Given the description of an element on the screen output the (x, y) to click on. 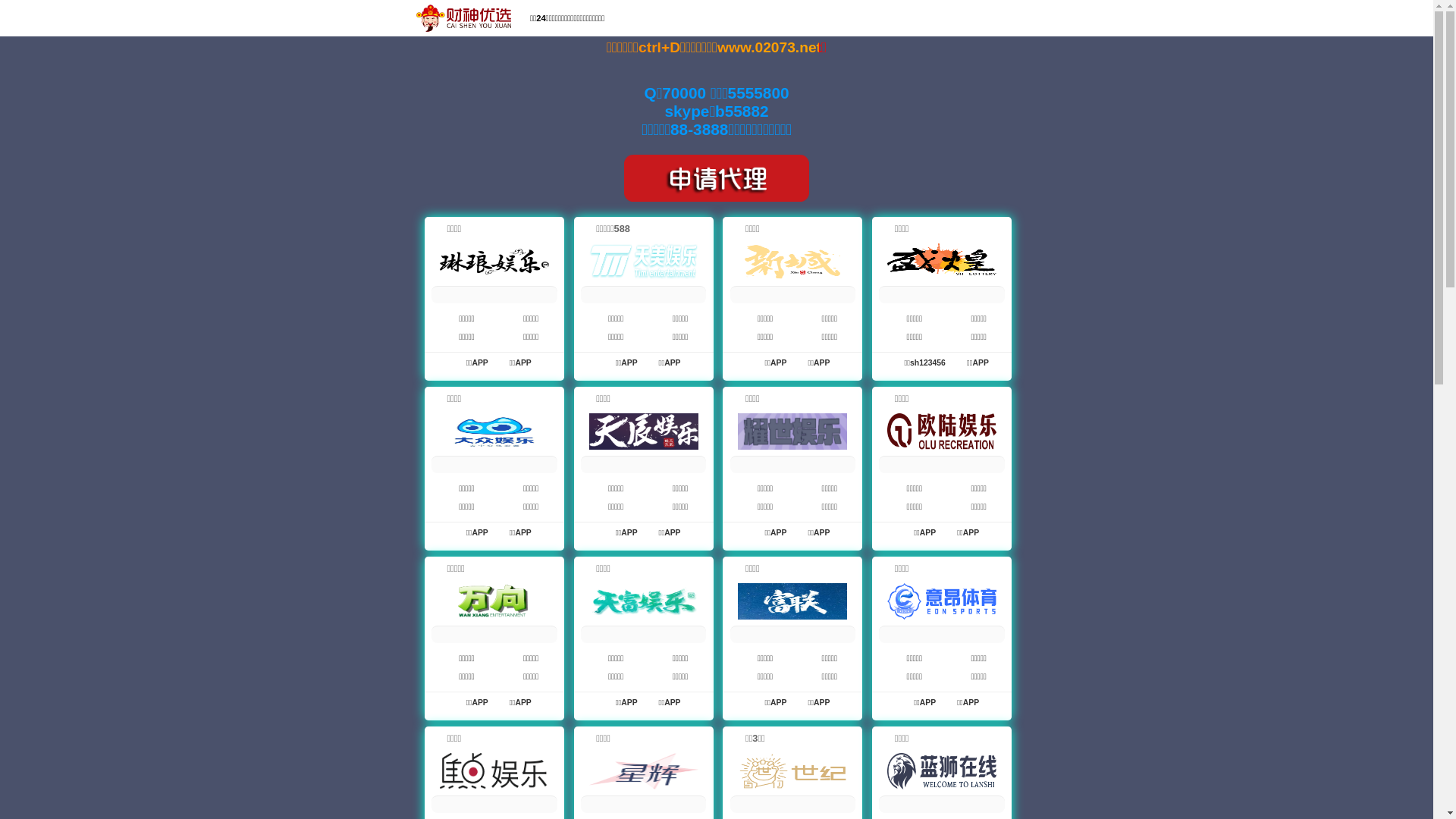
QQ Element type: text (1117, 19)
E-mail Element type: text (1162, 19)
